Given the description of an element on the screen output the (x, y) to click on. 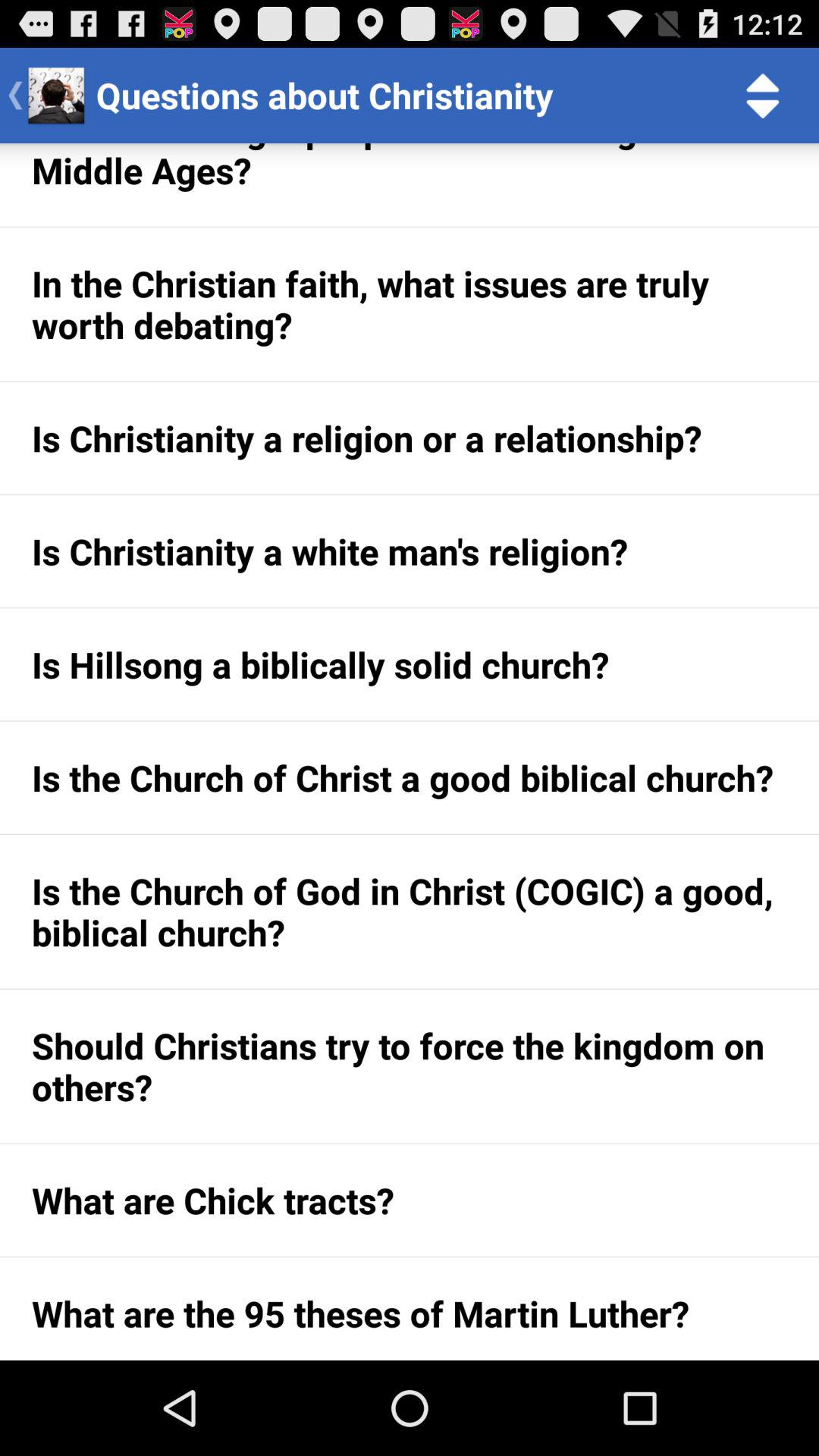
click the image next to the back button (55, 95)
click on the icon which is just below the time (763, 95)
